Given the description of an element on the screen output the (x, y) to click on. 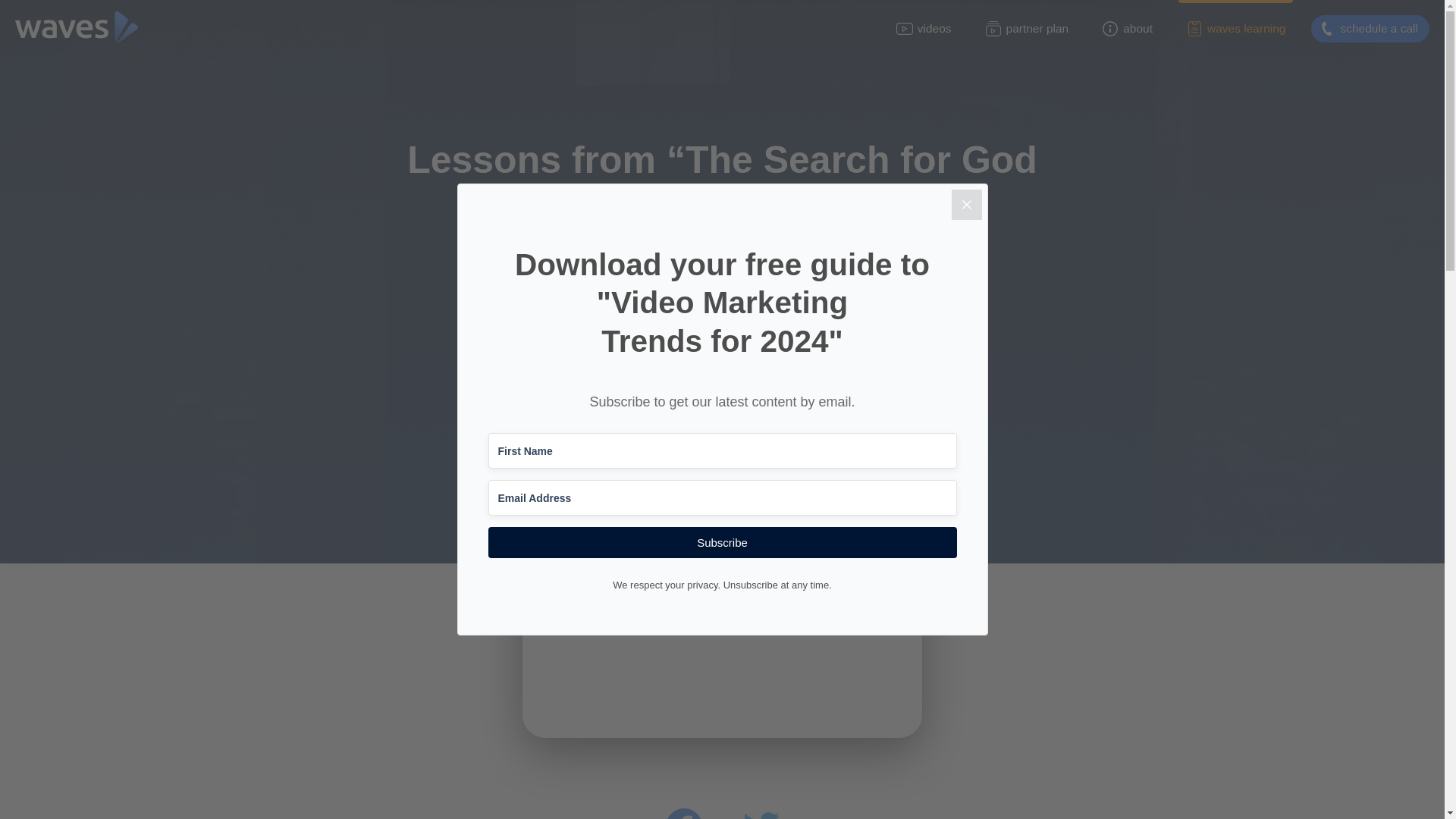
about (1127, 28)
partner plan (1026, 28)
waves learning (1234, 28)
videos (923, 28)
schedule a call (1370, 28)
Subscribe (721, 542)
Thinking Business (721, 299)
